Given the description of an element on the screen output the (x, y) to click on. 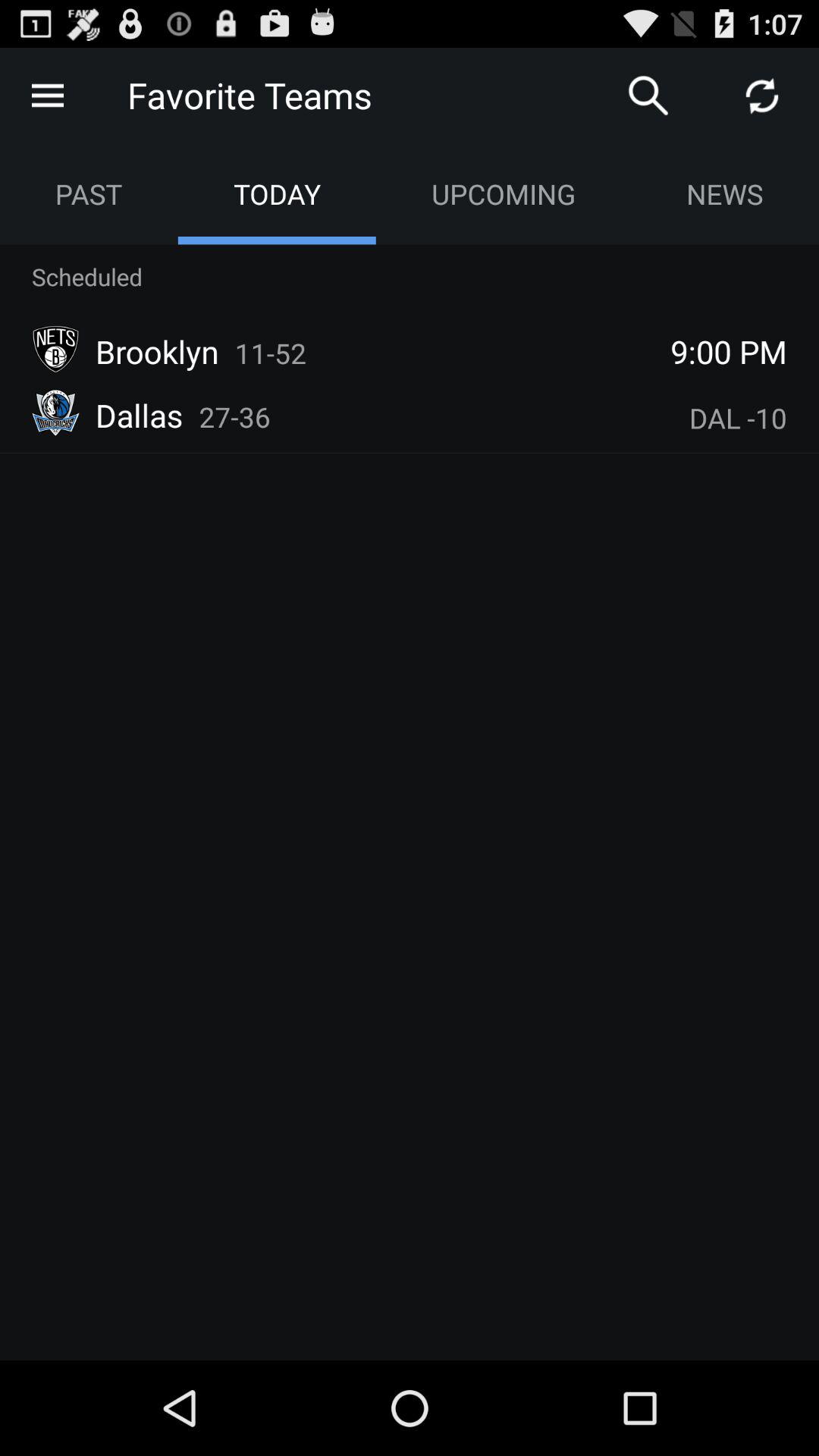
perform a search (648, 95)
